Given the description of an element on the screen output the (x, y) to click on. 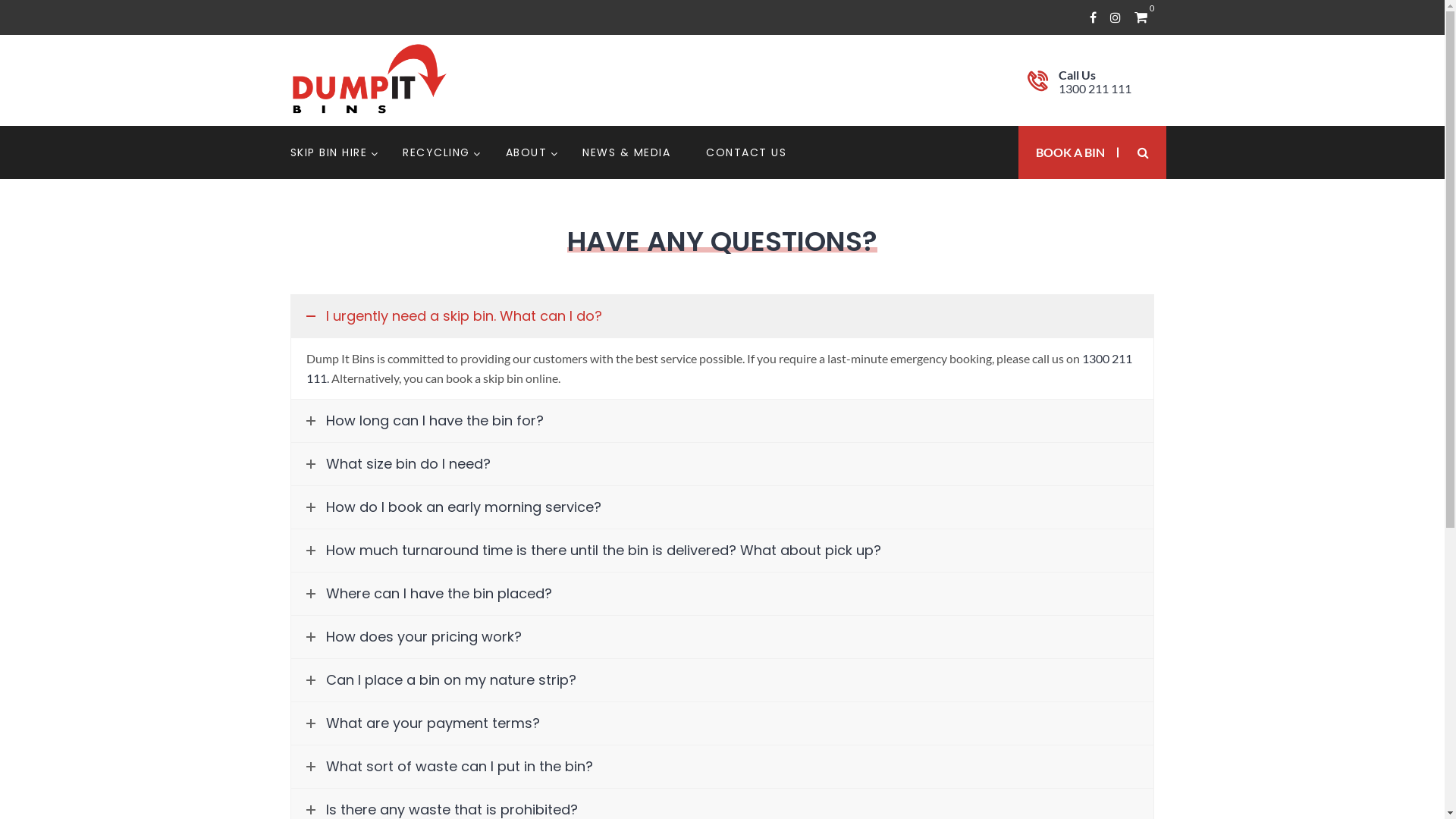
CONTACT US Element type: text (746, 151)
What sort of waste can I put in the bin? Element type: text (722, 766)
Can I place a bin on my nature strip? Element type: text (722, 679)
BOOK A BIN Element type: text (1066, 151)
RECYCLING Element type: text (436, 151)
1300 211 111. Element type: text (719, 368)
I urgently need a skip bin. What can I do? Element type: text (722, 315)
1300 211 111 Element type: text (1094, 88)
NEWS & MEDIA Element type: text (626, 151)
What size bin do I need? Element type: text (722, 463)
How do I book an early morning service? Element type: text (722, 507)
What are your payment terms? Element type: text (722, 723)
0 Element type: text (1140, 16)
How long can I have the bin for? Element type: text (722, 420)
How does your pricing work? Element type: text (722, 636)
ABOUT Element type: text (525, 151)
Where can I have the bin placed? Element type: text (722, 593)
SKIP BIN HIRE Element type: text (328, 151)
